Given the description of an element on the screen output the (x, y) to click on. 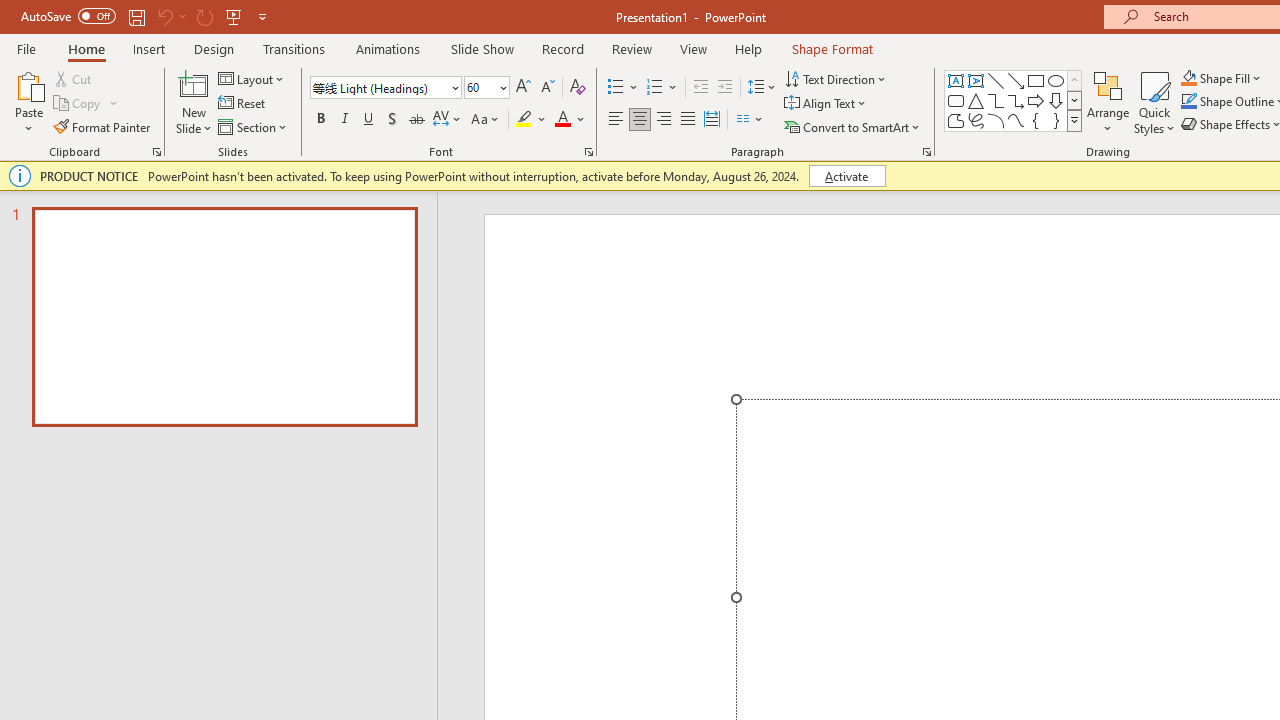
Design (214, 48)
Align Text (826, 103)
Italic (344, 119)
Shape Fill (1221, 78)
Columns (750, 119)
Freeform: Shape (955, 120)
Insert (149, 48)
Arrow: Right (1035, 100)
Rectangle (1035, 80)
Text Direction (836, 78)
Font Size (480, 87)
Open (502, 87)
AutomationID: ShapesInsertGallery (1014, 100)
Connector: Elbow Arrow (1016, 100)
